Given the description of an element on the screen output the (x, y) to click on. 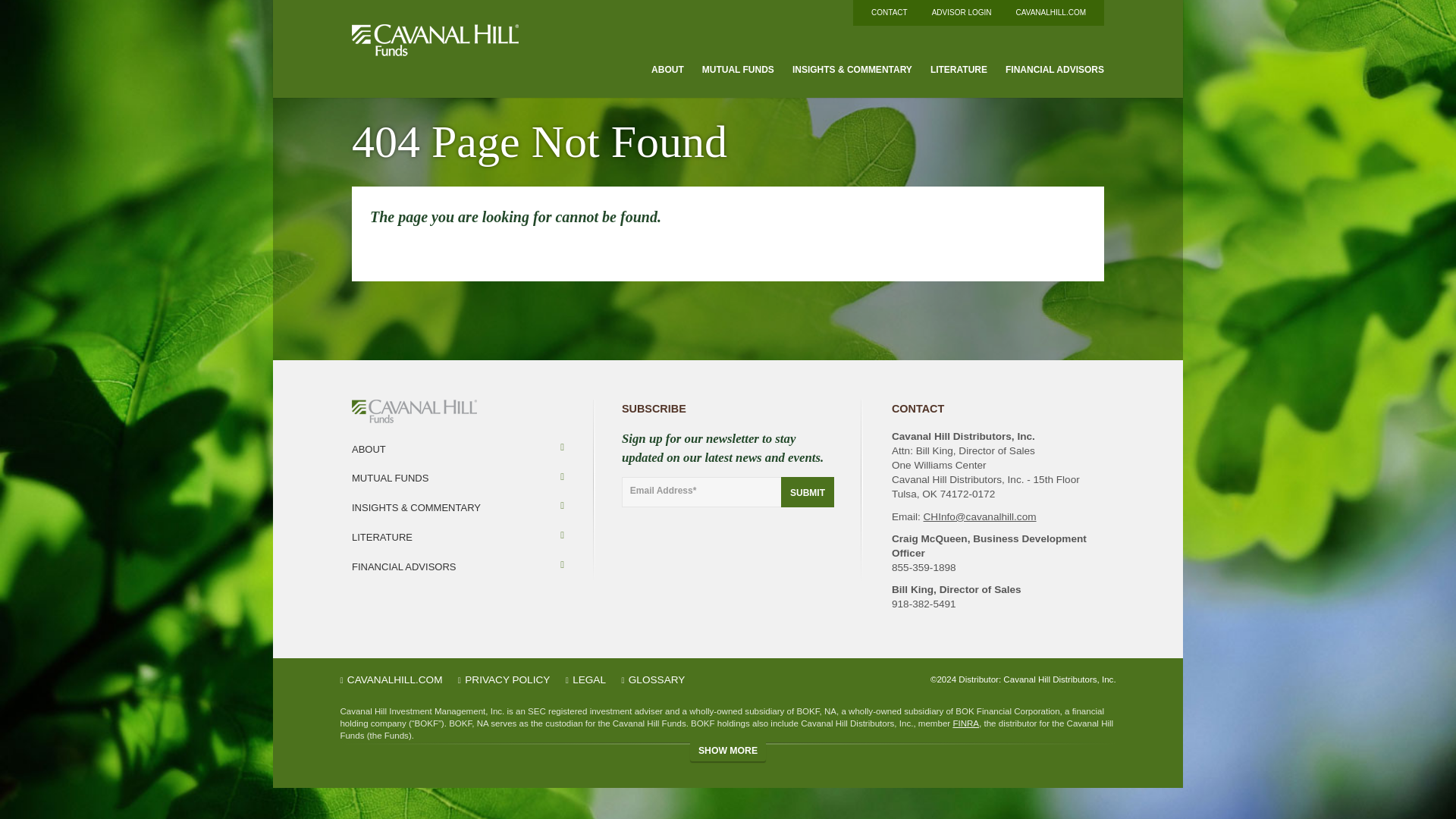
ADVISOR LOGIN (961, 12)
ABOUT (667, 73)
CAVANALHILL.COM (1051, 12)
CONTACT (888, 12)
Cavanal Hill Funds (437, 40)
MUTUAL FUNDS (737, 73)
